Given the description of an element on the screen output the (x, y) to click on. 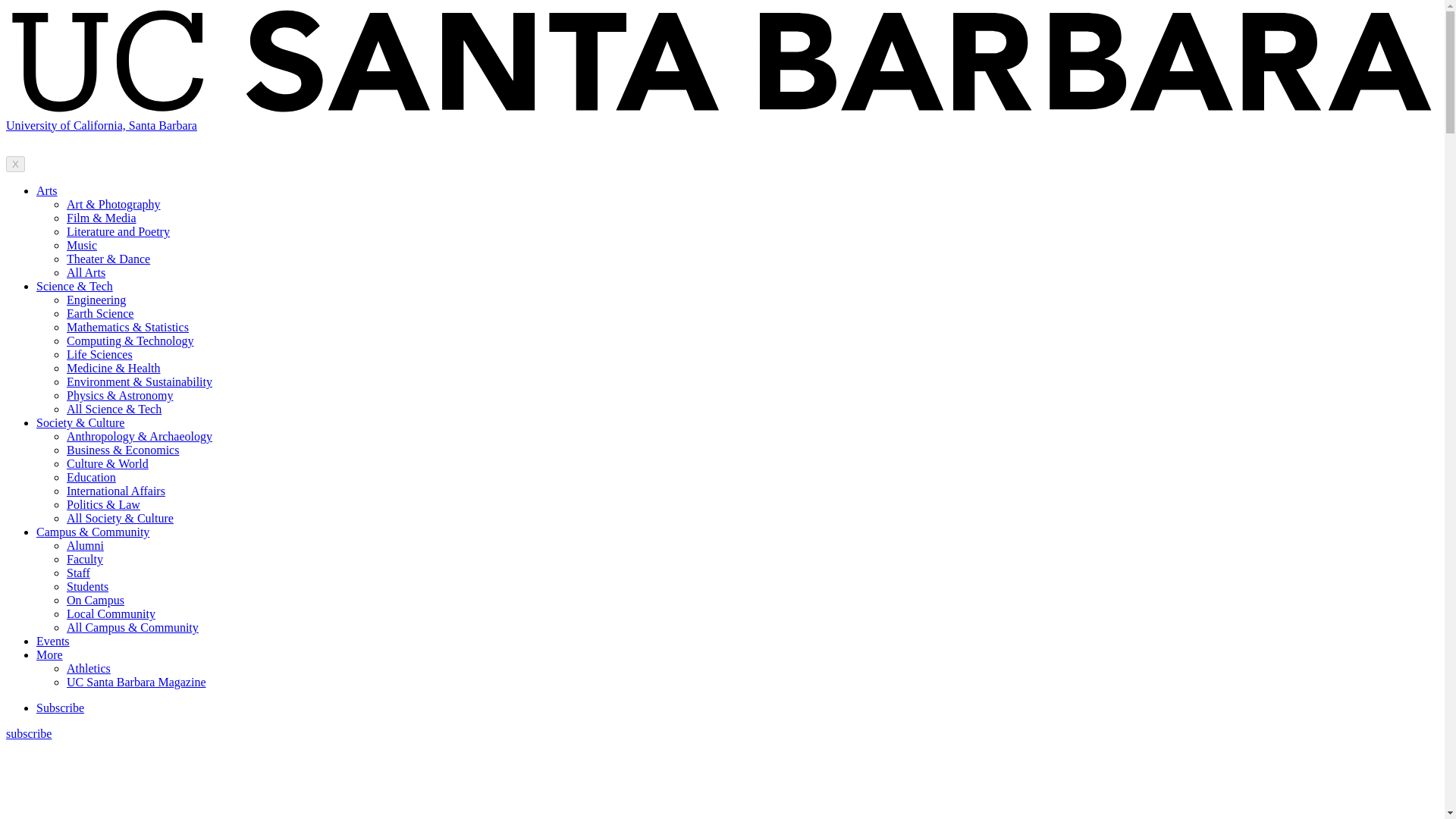
Engineering (95, 299)
Literature and Poetry (118, 231)
University of California, Santa Barbara (100, 124)
Arts (47, 190)
On Campus (94, 599)
Life Sciences (99, 354)
Staff (78, 572)
Earth Science (99, 313)
Students (86, 585)
More (49, 654)
Events (52, 640)
Faculty (84, 558)
Alumni (84, 545)
All Arts (85, 272)
